Given the description of an element on the screen output the (x, y) to click on. 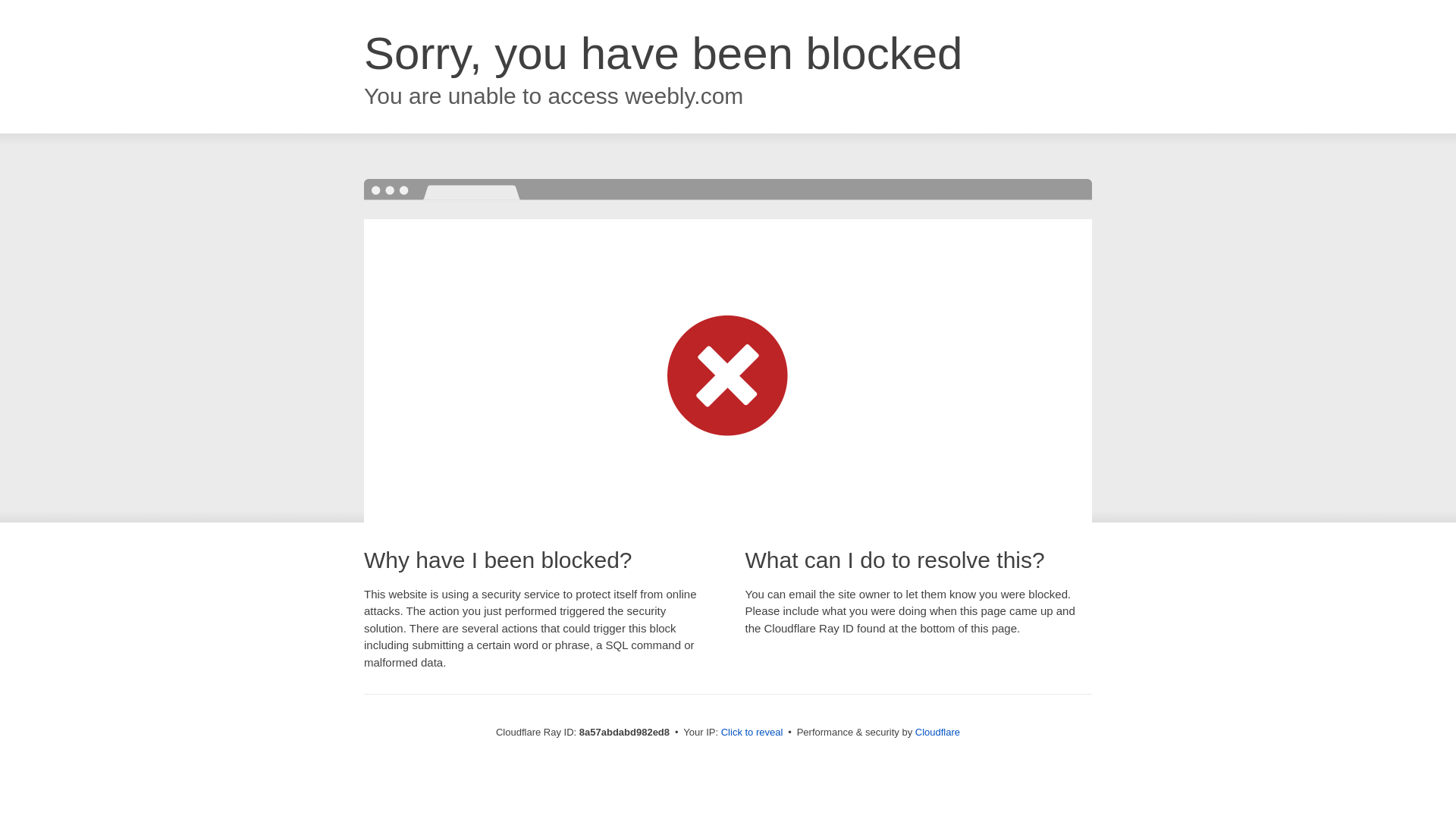
Cloudflare (937, 731)
Click to reveal (751, 732)
